Given the description of an element on the screen output the (x, y) to click on. 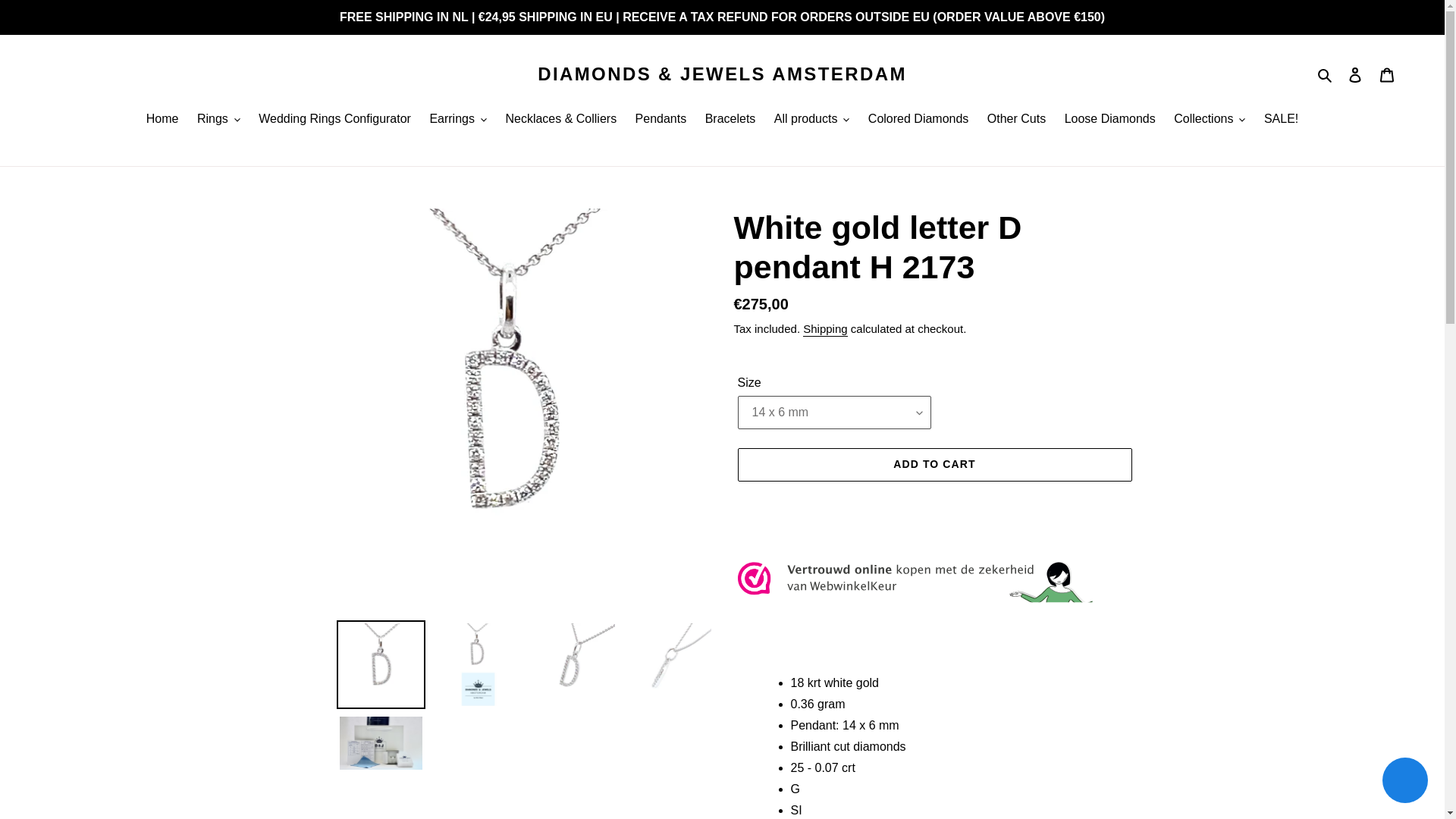
Keurmerk webshop (914, 600)
Shopify online store chat (1404, 781)
Log in (1355, 73)
Cart (1387, 73)
Search (1326, 74)
